Given the description of an element on the screen output the (x, y) to click on. 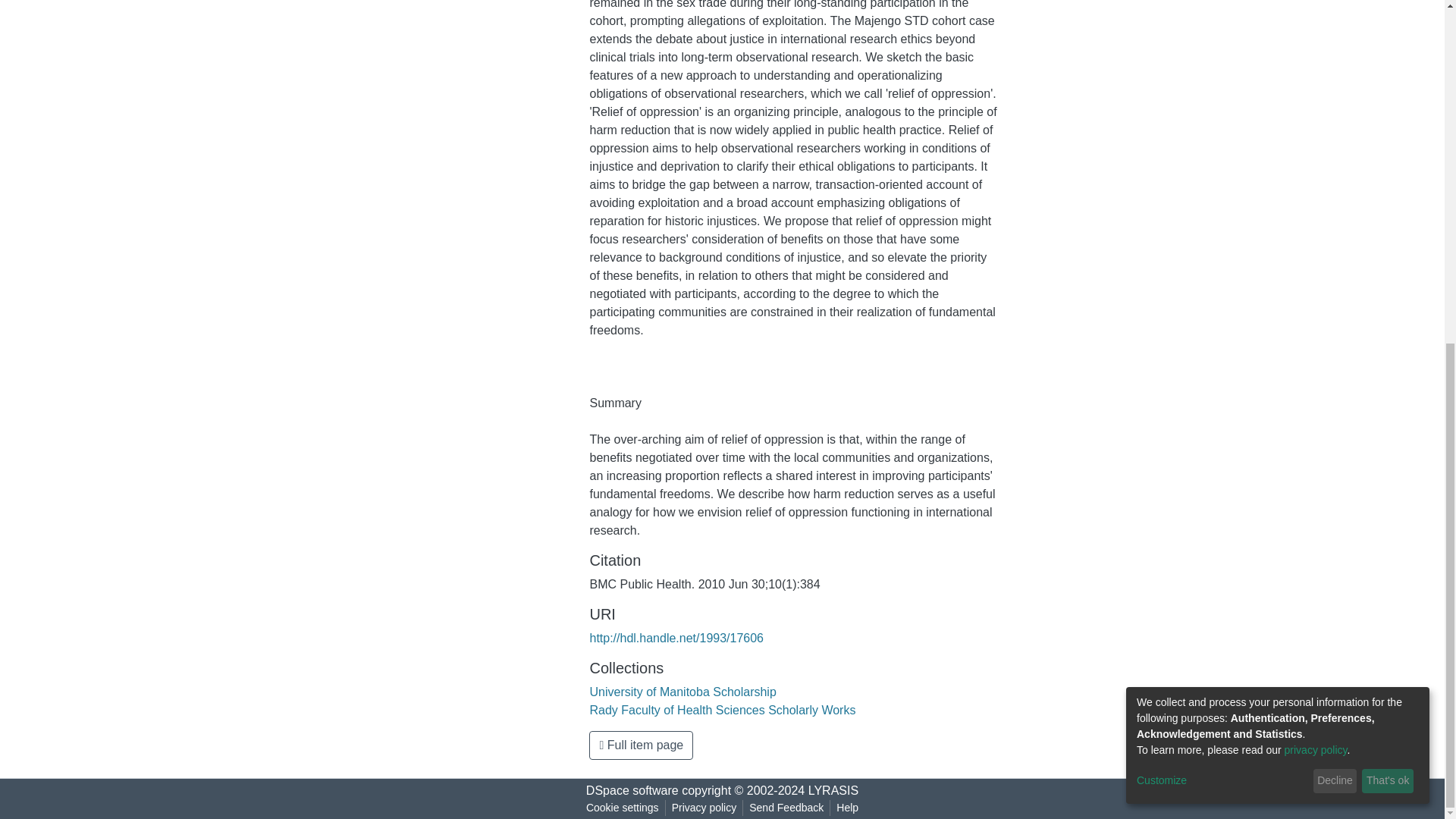
That's ok (1387, 194)
Send Feedback (785, 807)
privacy policy (1316, 163)
Privacy policy (703, 807)
Help (846, 807)
Rady Faculty of Health Sciences Scholarly Works (722, 709)
Decline (1334, 194)
University of Manitoba Scholarship (682, 691)
Full item page (641, 745)
DSpace software (632, 789)
Cookie settings (622, 807)
LYRASIS (833, 789)
Customize (1222, 194)
